Given the description of an element on the screen output the (x, y) to click on. 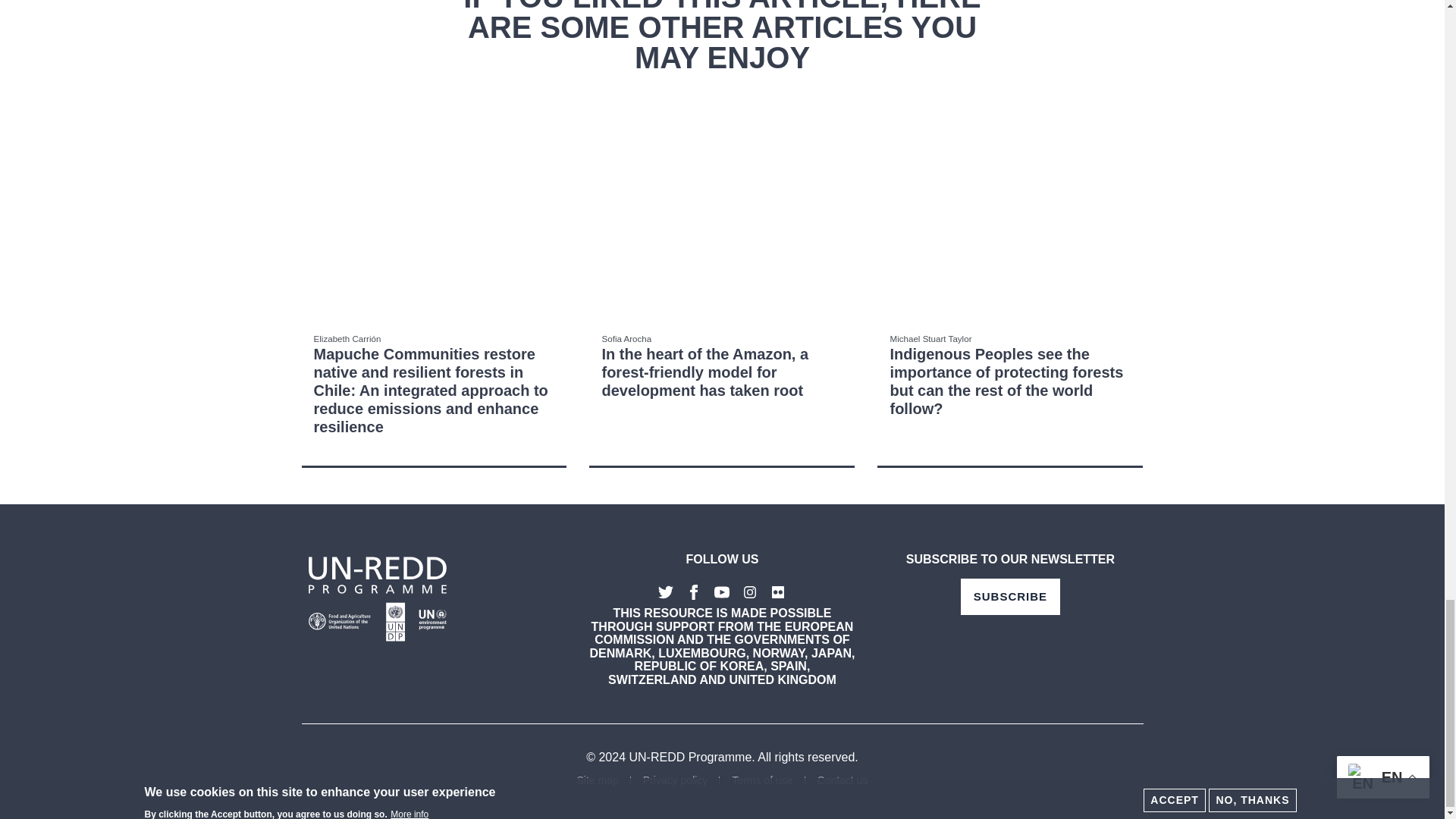
Flickr (778, 592)
Instagram (750, 592)
YouTube (721, 592)
Twitter (665, 592)
Facebook (693, 592)
